Given the description of an element on the screen output the (x, y) to click on. 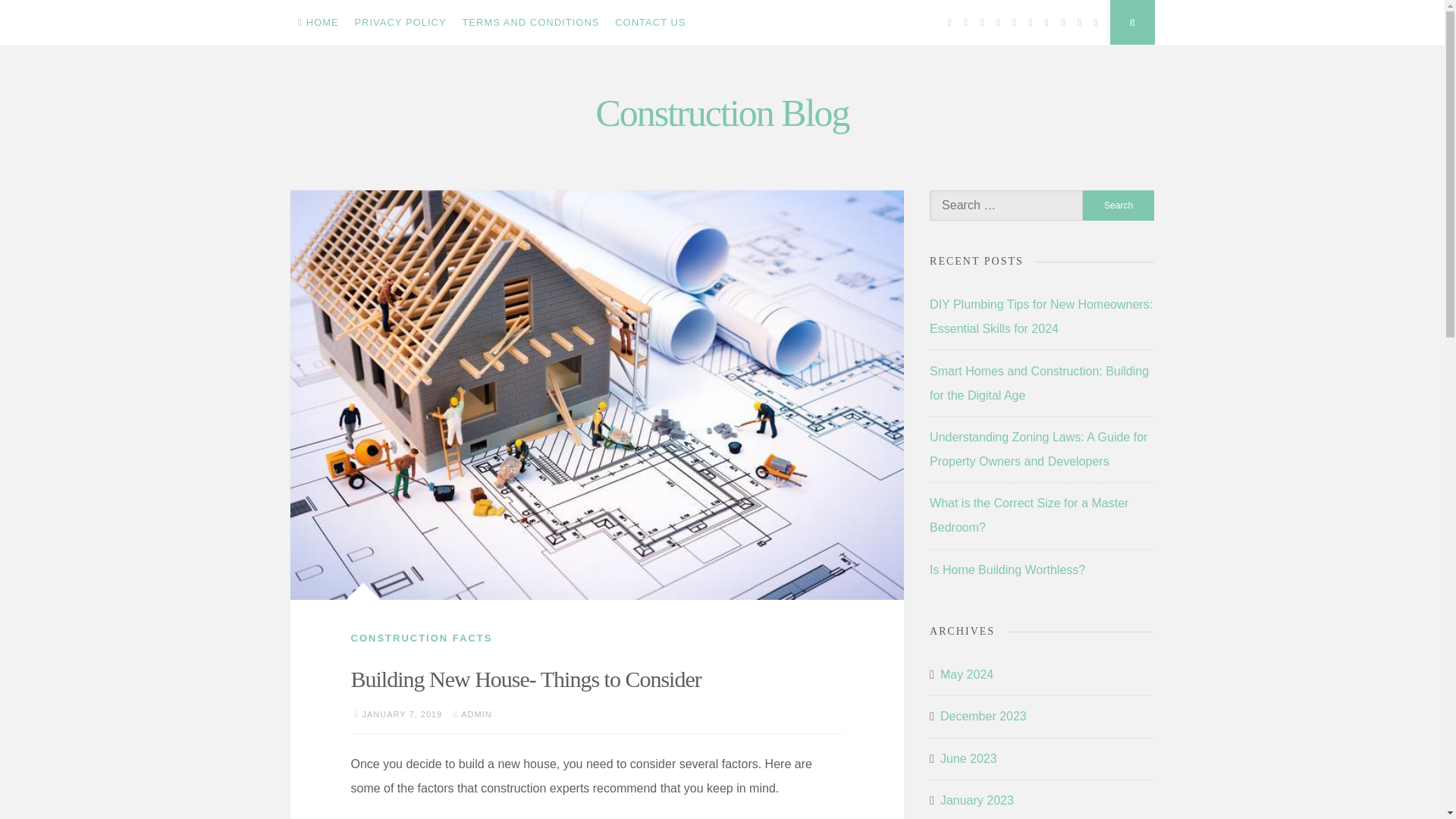
January 2023 (976, 800)
ADMIN (476, 714)
Search (1118, 205)
Smart Homes and Construction: Building for the Digital Age (1039, 383)
HOME (317, 22)
CONTACT US (650, 22)
Construction Blog (721, 112)
Search (1118, 205)
